Given the description of an element on the screen output the (x, y) to click on. 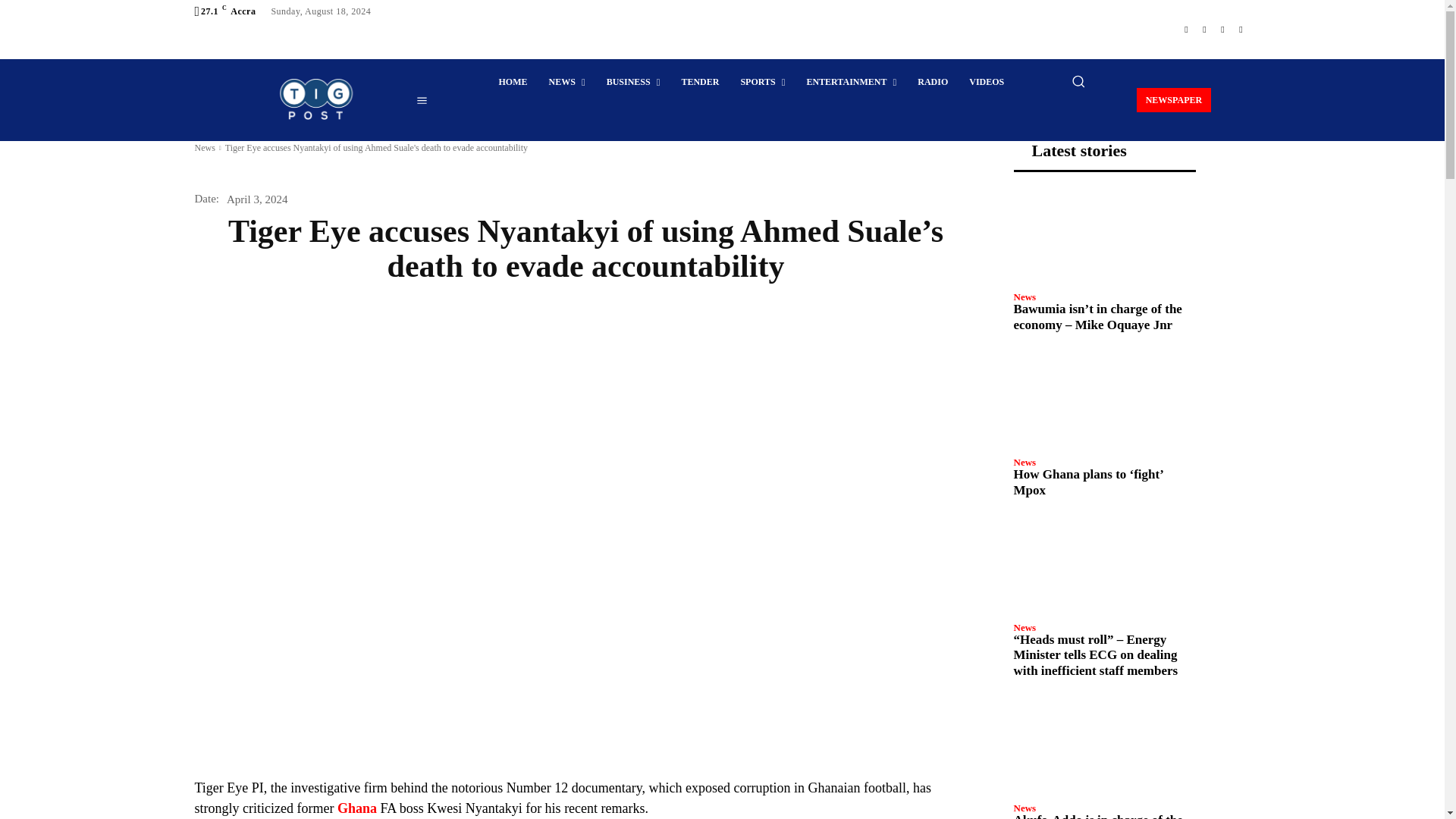
BUSINESS (633, 81)
HOME (512, 81)
Facebook (1185, 29)
TENDER (699, 81)
Twitter (1221, 29)
Instagram (1203, 29)
Youtube (1240, 29)
SPORTS (761, 81)
NEWSPAPER (1174, 99)
NEWS (566, 81)
